Given the description of an element on the screen output the (x, y) to click on. 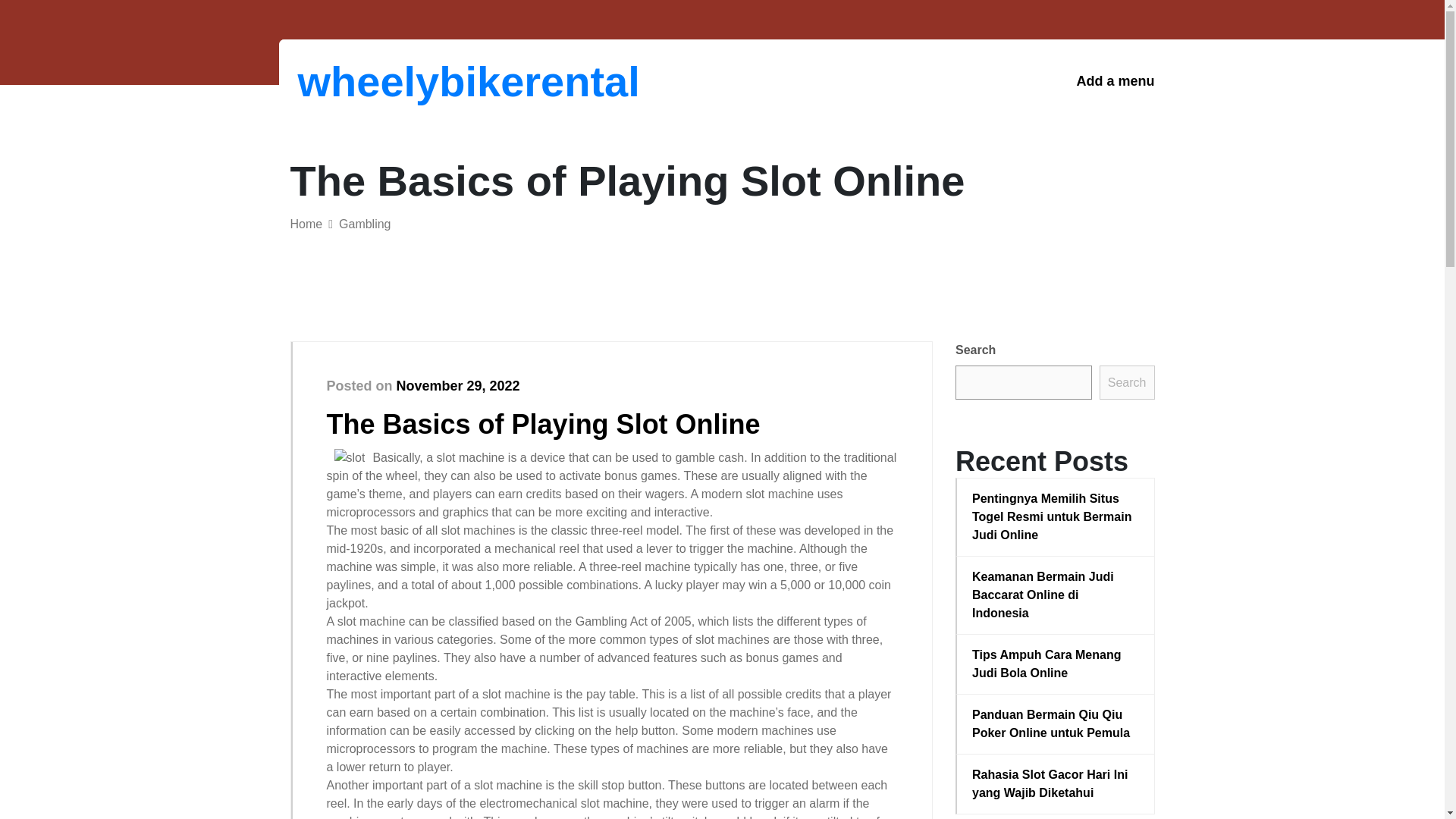
Keamanan Bermain Judi Baccarat Online di Indonesia (1055, 595)
Panduan Bermain Qiu Qiu Poker Online untuk Pemula (1055, 723)
Search (1126, 382)
Add a menu (1114, 81)
Rahasia Slot Gacor Hari Ini yang Wajib Diketahui (1055, 783)
The Basics of Playing Slot Online (543, 423)
Tips Ampuh Cara Menang Judi Bola Online (1055, 664)
wheelybikerental (376, 81)
November 29, 2022 (457, 385)
Gambling (364, 223)
Home (305, 223)
